Given the description of an element on the screen output the (x, y) to click on. 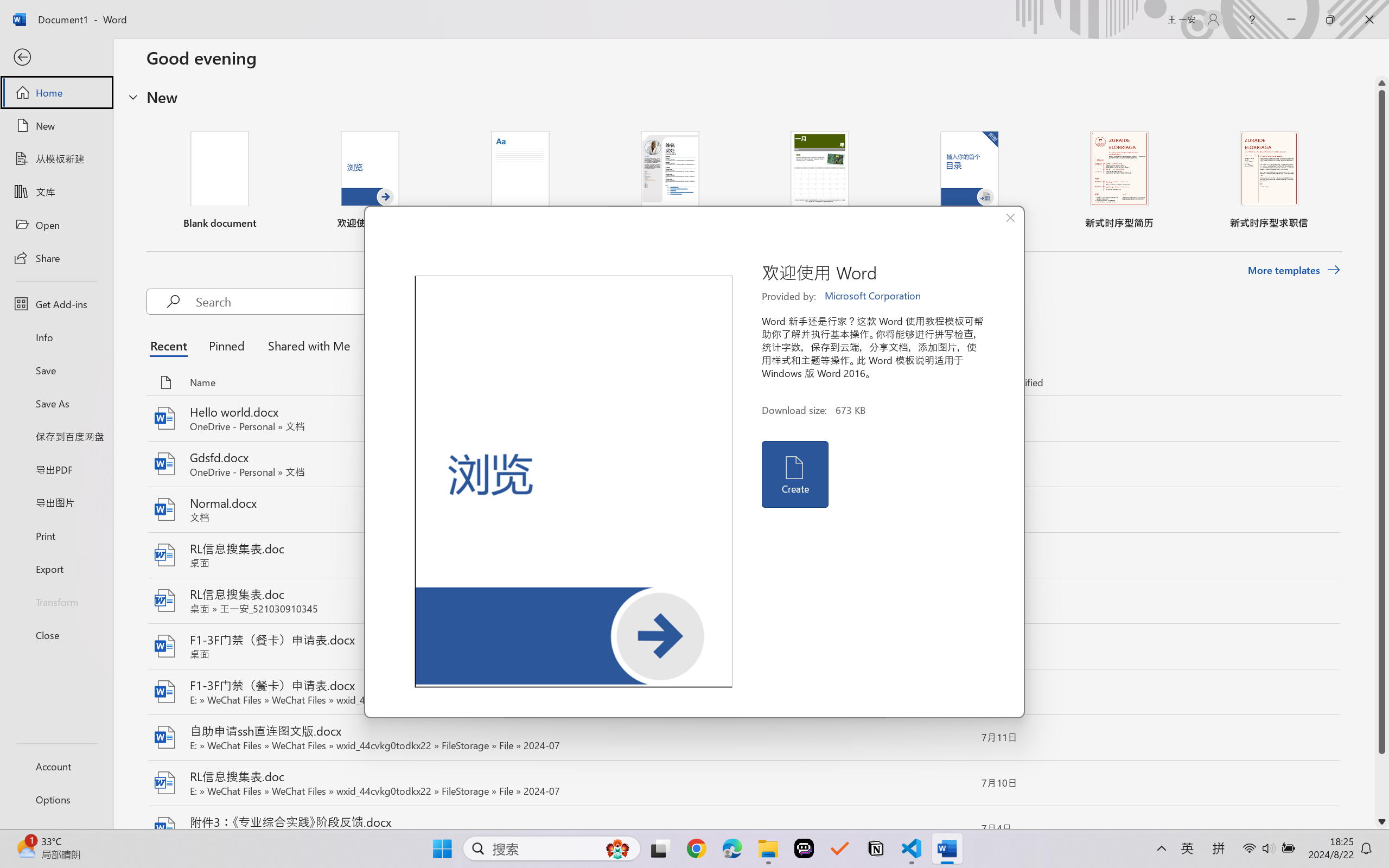
Gdsfd.docx (743, 463)
Preview (573, 481)
Hide or show region (133, 96)
Shared with Me (305, 345)
Pinned (226, 345)
